Given the description of an element on the screen output the (x, y) to click on. 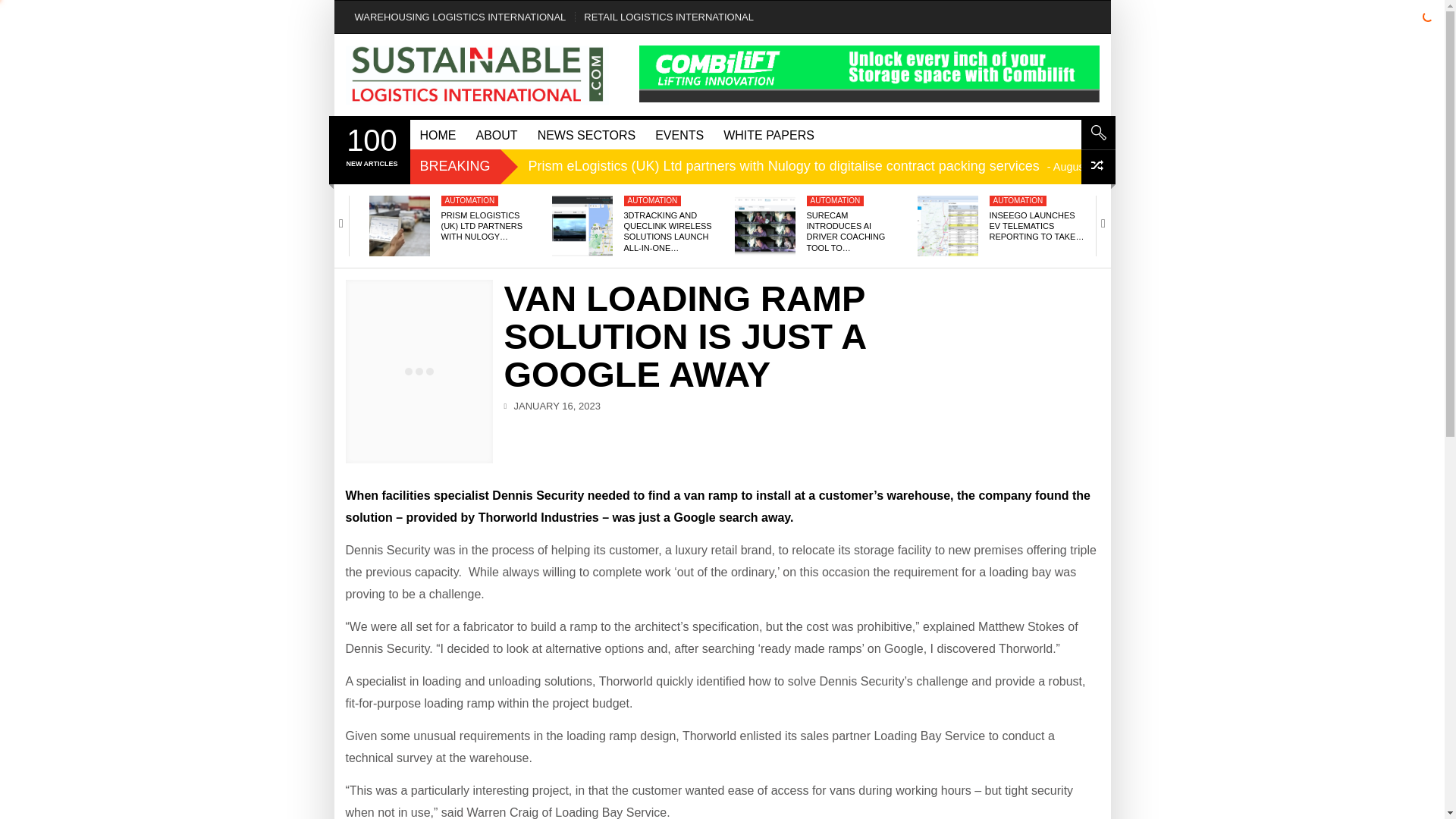
HOME (437, 134)
Sustainable Logistics International (478, 74)
Random (370, 145)
BREAKING (1098, 166)
EVENTS (455, 165)
WHITE PAPERS (679, 134)
RETAIL LOGISTICS INTERNATIONAL (768, 134)
ABOUT (668, 16)
NEWS SECTORS (496, 134)
